Given the description of an element on the screen output the (x, y) to click on. 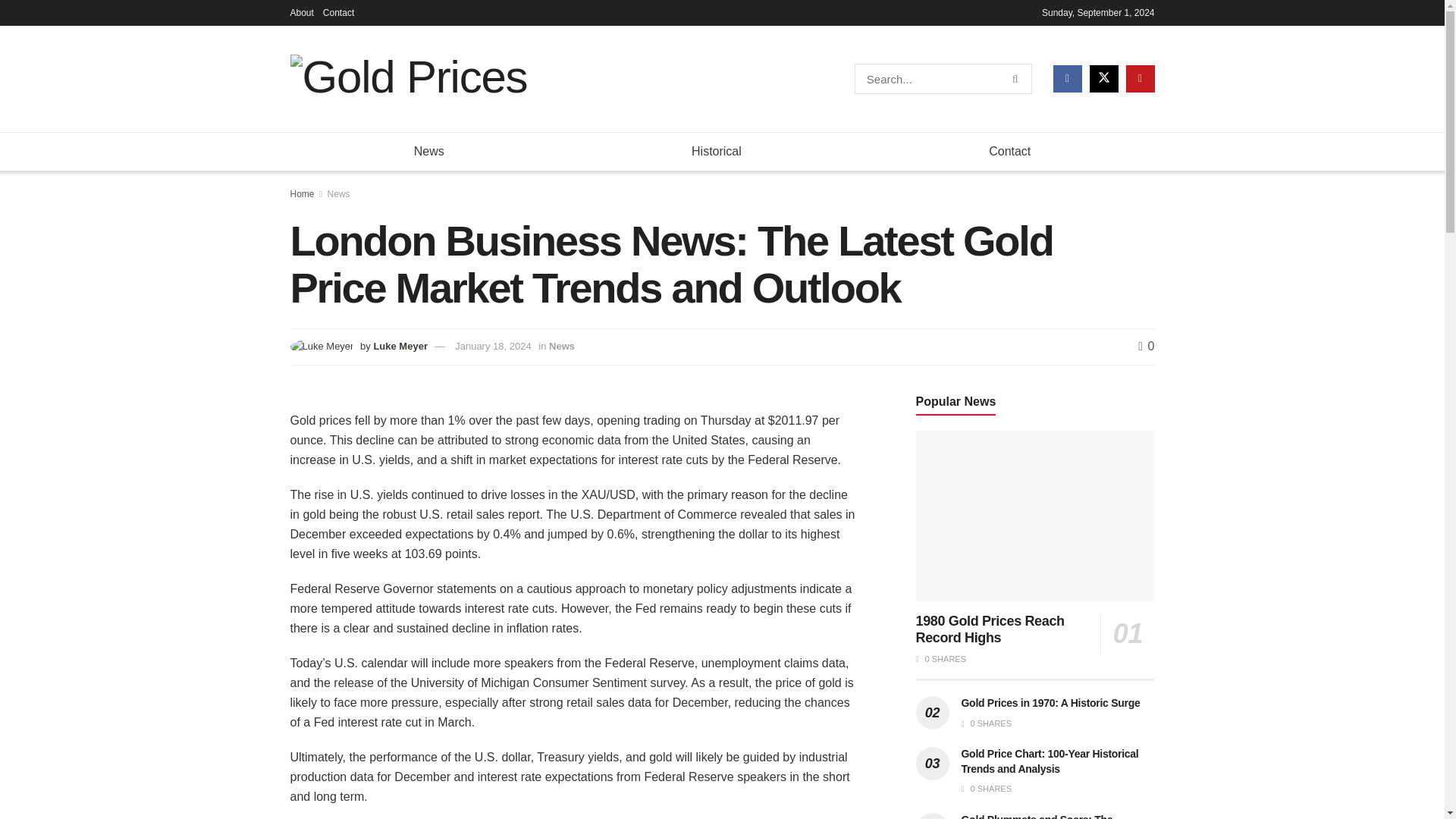
News (561, 346)
Luke Meyer (400, 346)
Contact (338, 12)
Contact (1009, 151)
About (301, 12)
0 (1146, 345)
News (428, 151)
Home (301, 194)
News (338, 194)
Historical (715, 151)
